Given the description of an element on the screen output the (x, y) to click on. 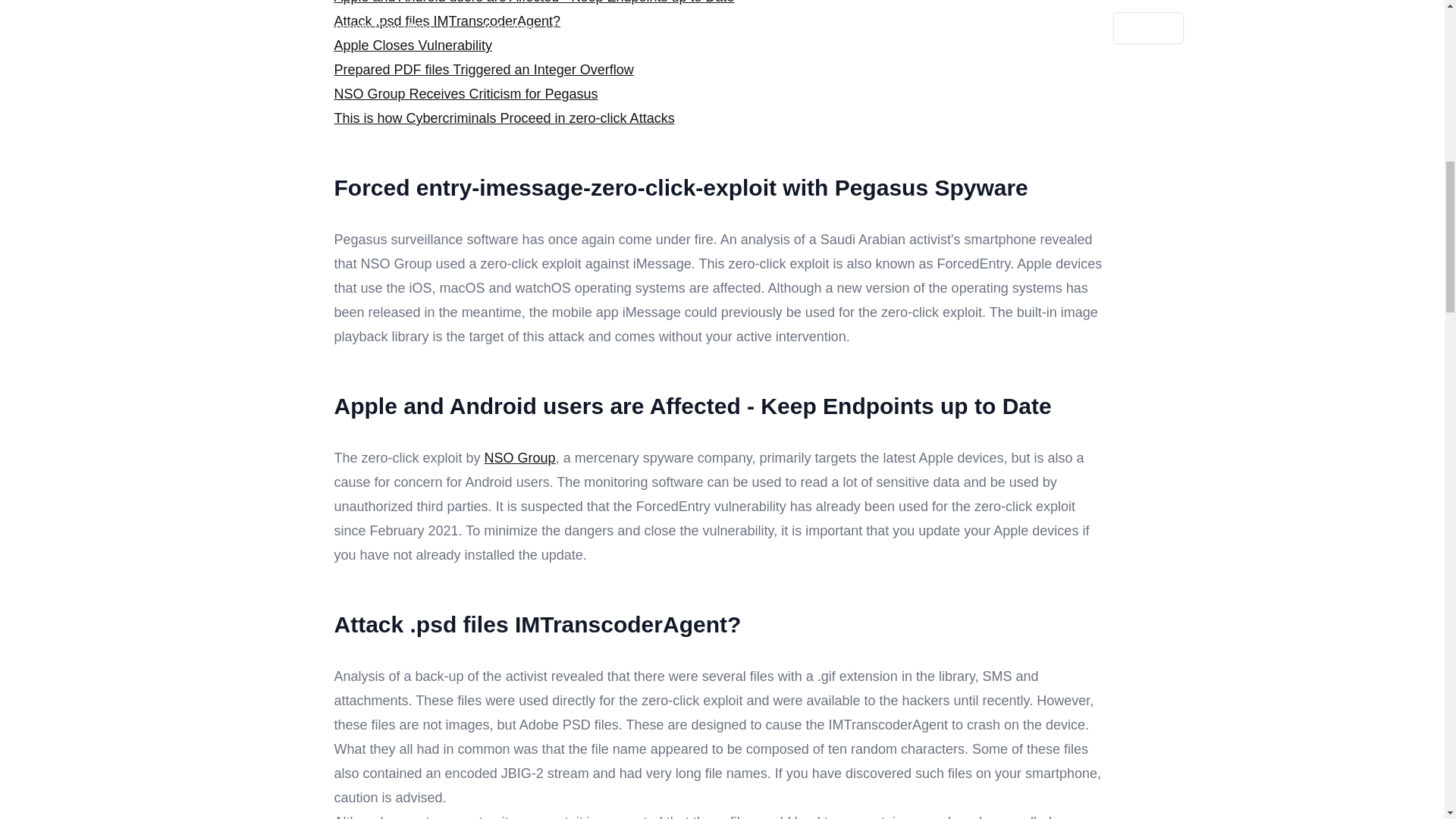
Apple Closes Vulnerability (412, 45)
NSO Group Receives Criticism for Pegasus (464, 93)
NSO Group (520, 458)
Attack .psd files IMTranscoderAgent? (446, 20)
This is how Cybercriminals Proceed in zero-click Attacks (503, 118)
Prepared PDF files Triggered an Integer Overflow (483, 69)
